Given the description of an element on the screen output the (x, y) to click on. 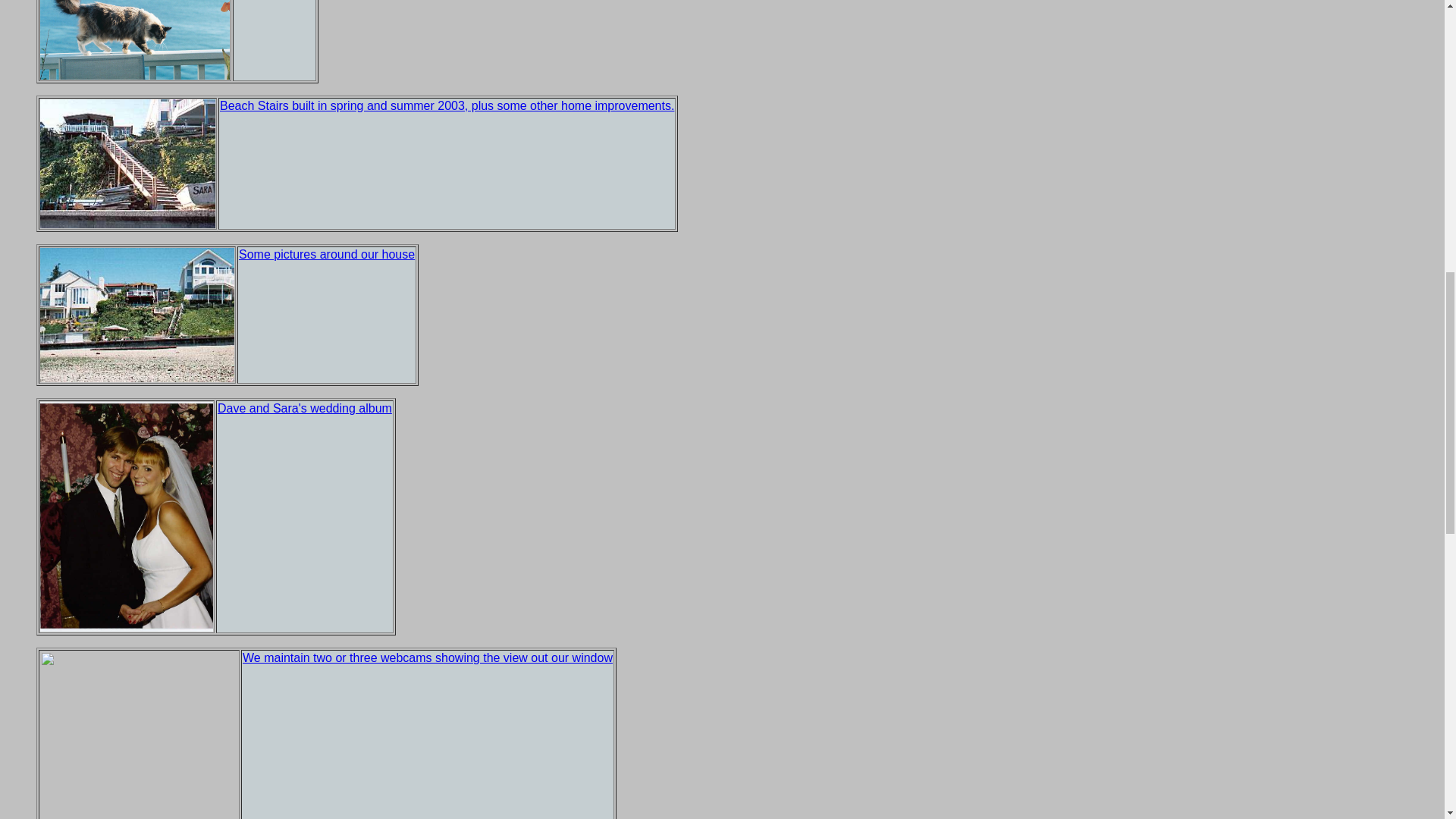
Some pictures around our house (326, 254)
Dave and Sara's wedding album (303, 408)
